Given the description of an element on the screen output the (x, y) to click on. 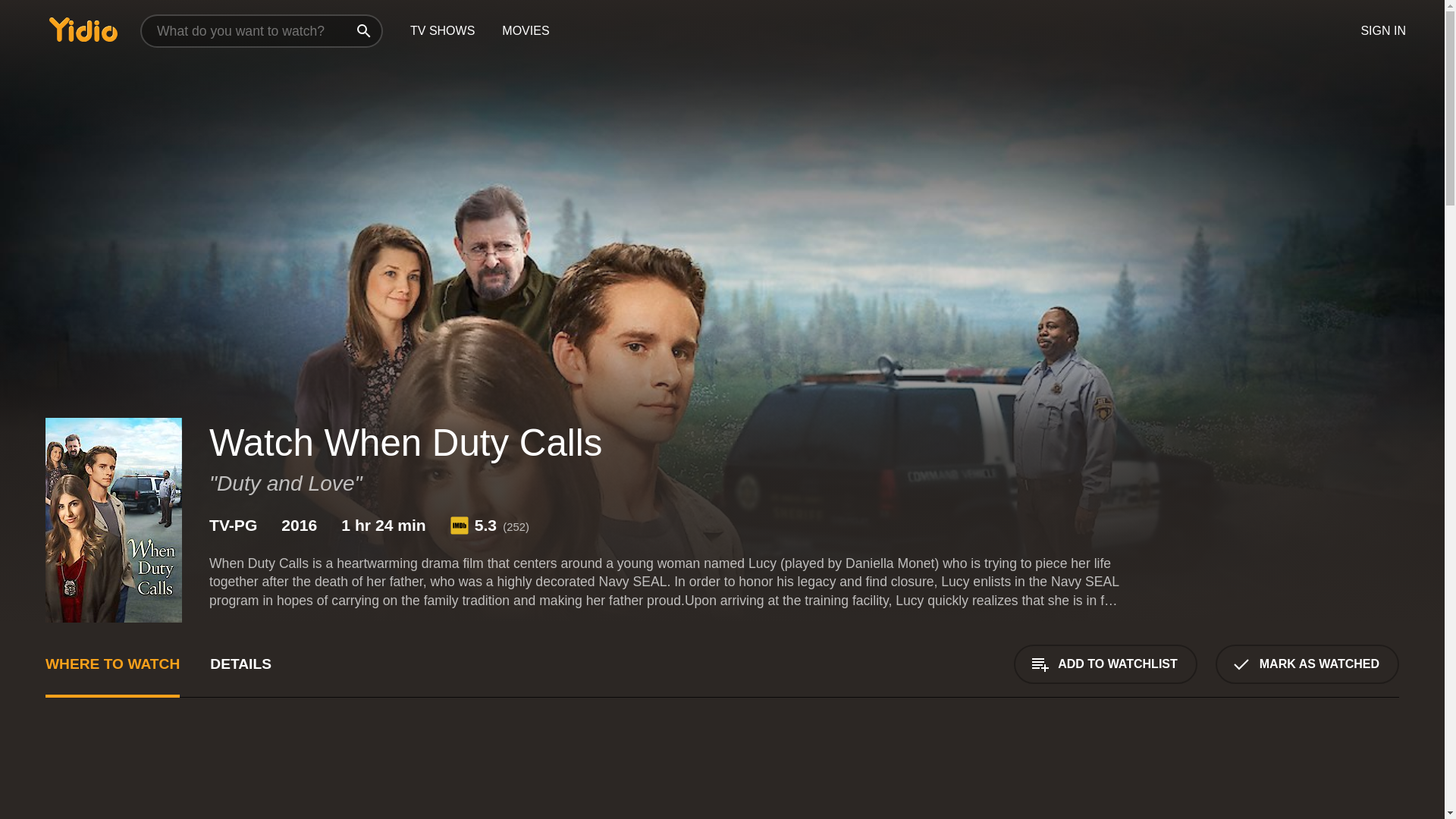
TV SHOWS (441, 31)
Advertisement (1285, 776)
Advertisement (254, 776)
ADD TO WATCHLIST (1104, 663)
Yidio (82, 29)
MARK AS WATCHED (1307, 663)
MOVIES (524, 31)
